Given the description of an element on the screen output the (x, y) to click on. 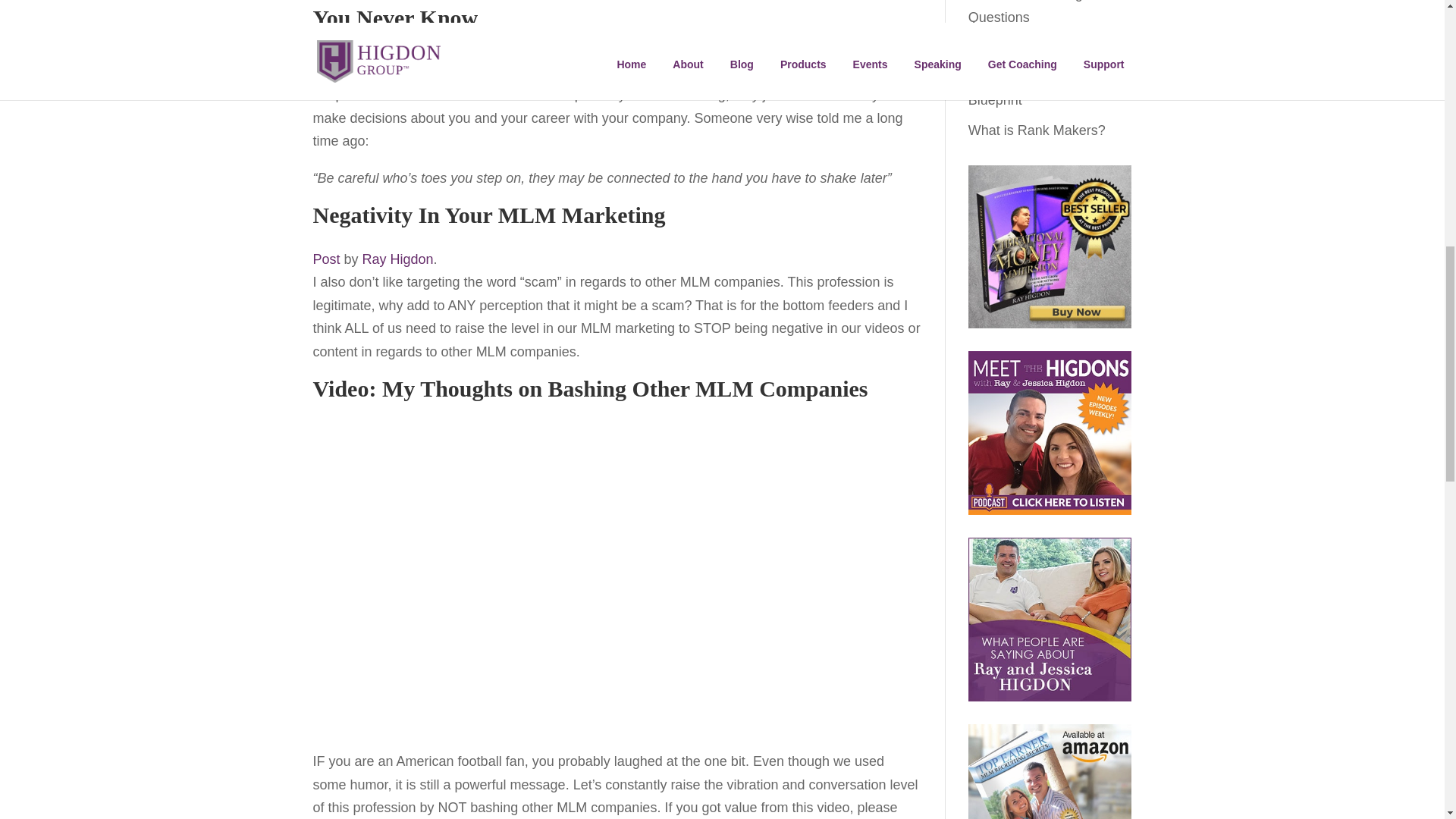
Post (326, 258)
Ray Higdon (397, 258)
